Given the description of an element on the screen output the (x, y) to click on. 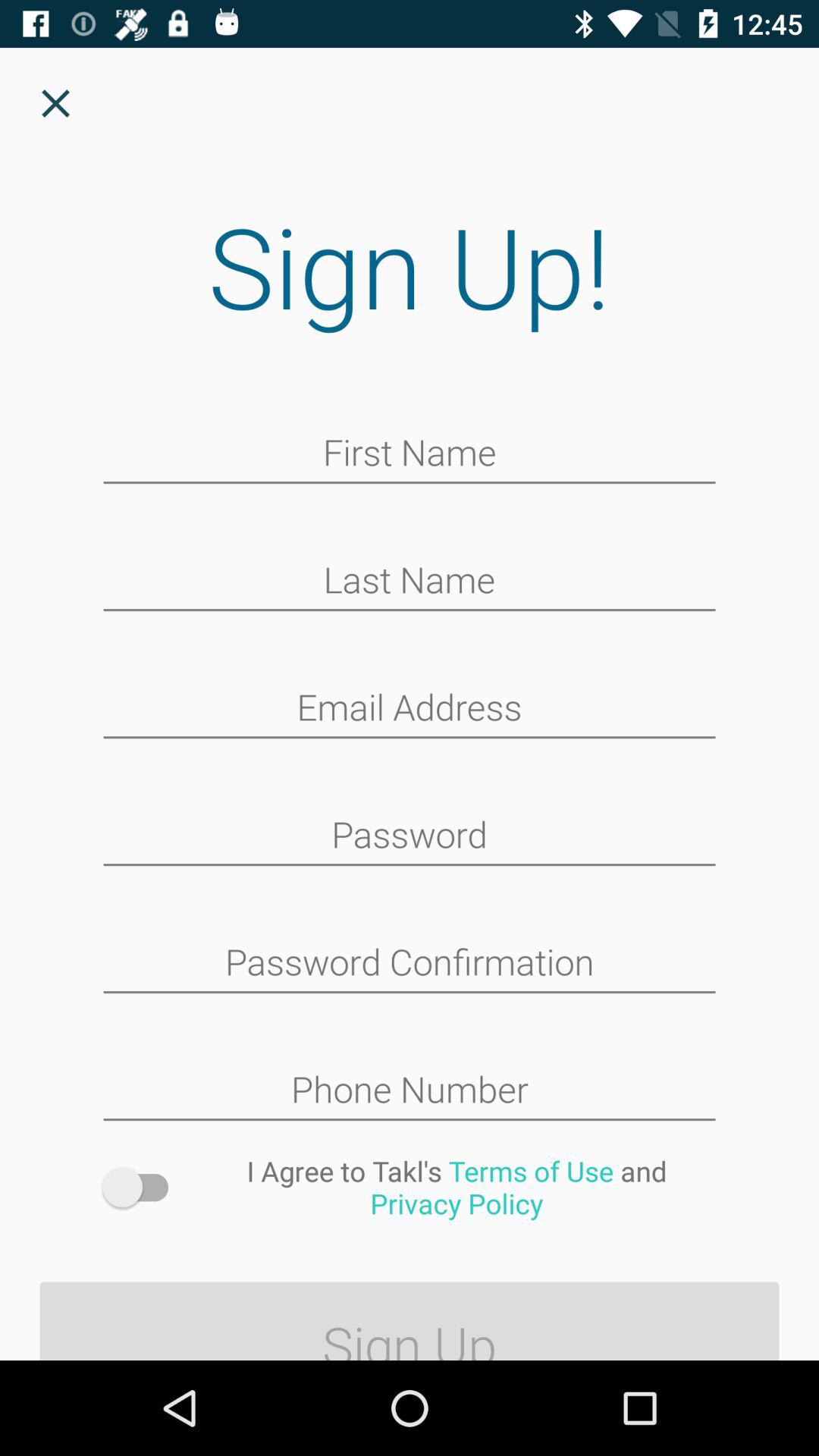
tap the sign up button (409, 1314)
